Given the description of an element on the screen output the (x, y) to click on. 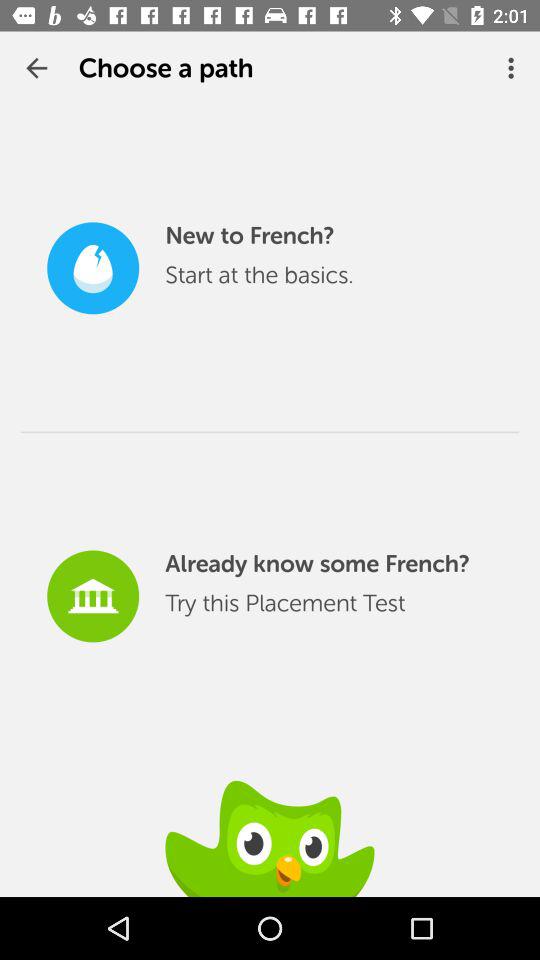
press the app to the left of choose a path item (36, 68)
